Given the description of an element on the screen output the (x, y) to click on. 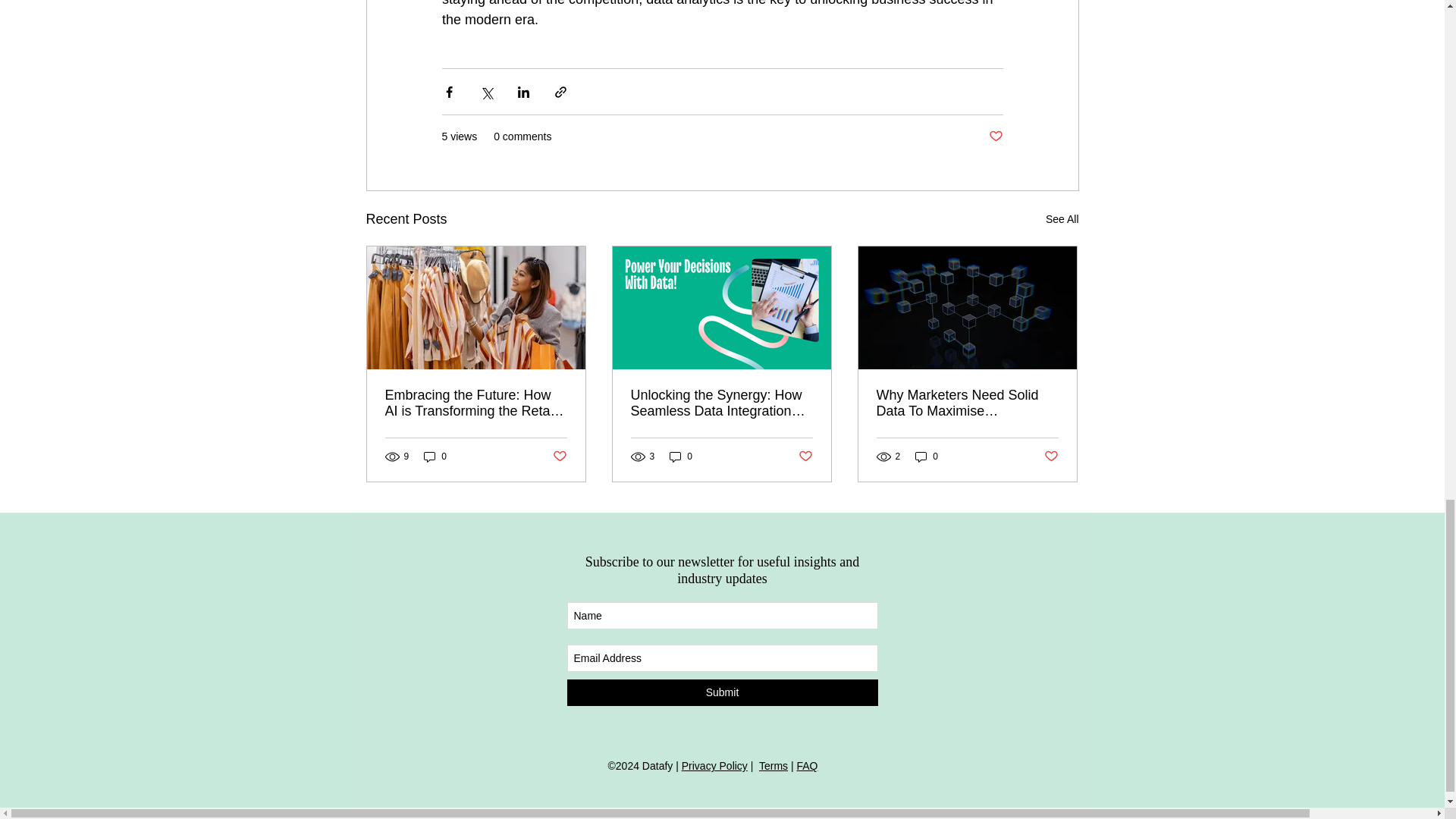
0 (435, 456)
Post not marked as liked (804, 456)
Post not marked as liked (1050, 456)
Terms (772, 766)
0 (681, 456)
Submit (722, 692)
Post not marked as liked (995, 136)
See All (1061, 219)
